Given the description of an element on the screen output the (x, y) to click on. 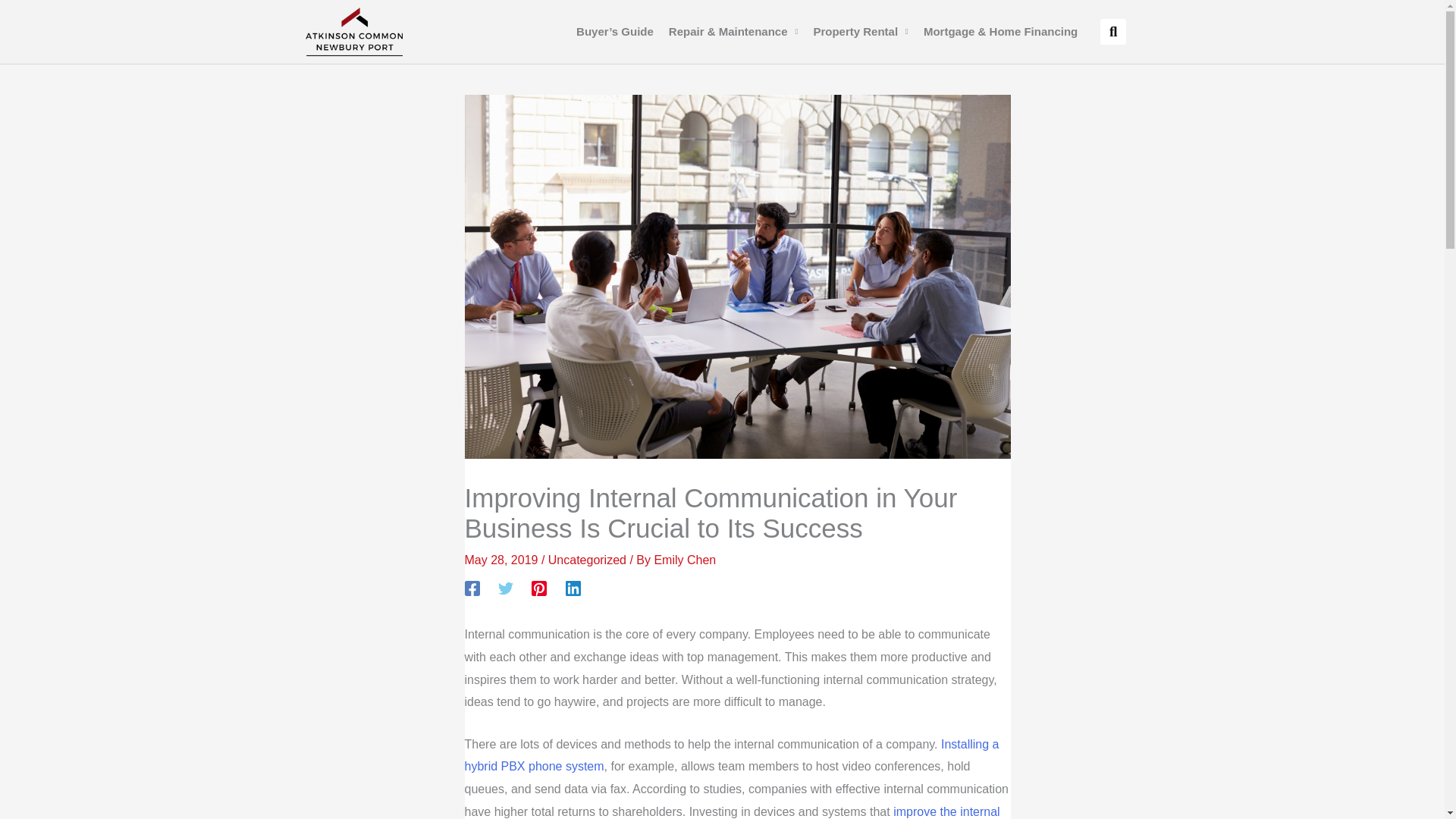
View all posts by Emily Chen (684, 559)
Property Rental (860, 31)
Kital (731, 755)
improve the internal communication of your business (731, 812)
Installing a hybrid PBX phone system (731, 755)
Forbes (731, 812)
Emily Chen (684, 559)
Uncategorized (587, 559)
